Given the description of an element on the screen output the (x, y) to click on. 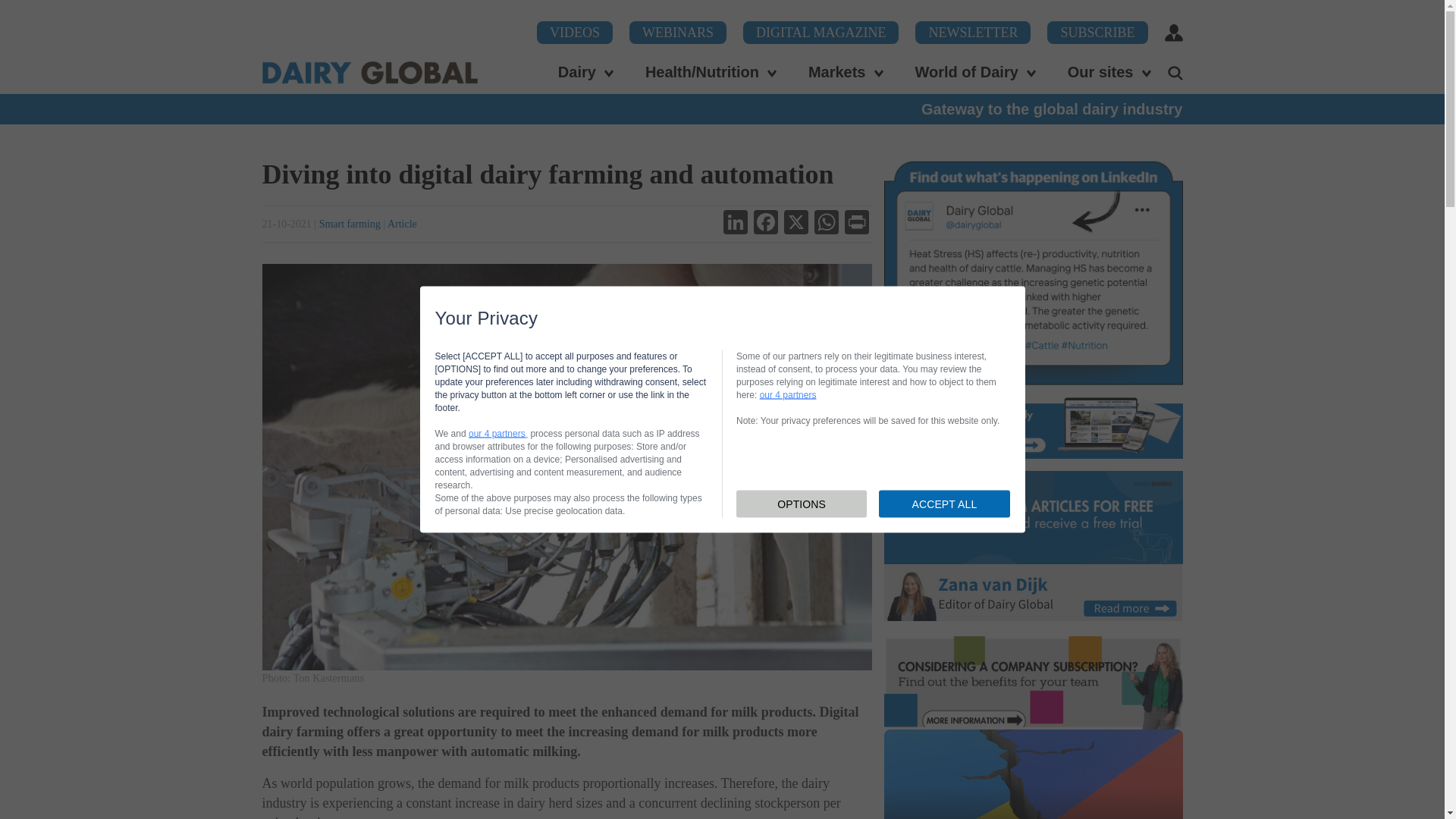
SUBSCRIBE (1096, 32)
Facebook (765, 223)
WhatsApp (825, 223)
NEWSLETTER (972, 32)
VIDEOS (574, 32)
WEBINARS (677, 32)
X (795, 223)
Print (856, 223)
Dairy (586, 71)
LinkedIn (735, 223)
DIGITAL MAGAZINE (820, 32)
